Given the description of an element on the screen output the (x, y) to click on. 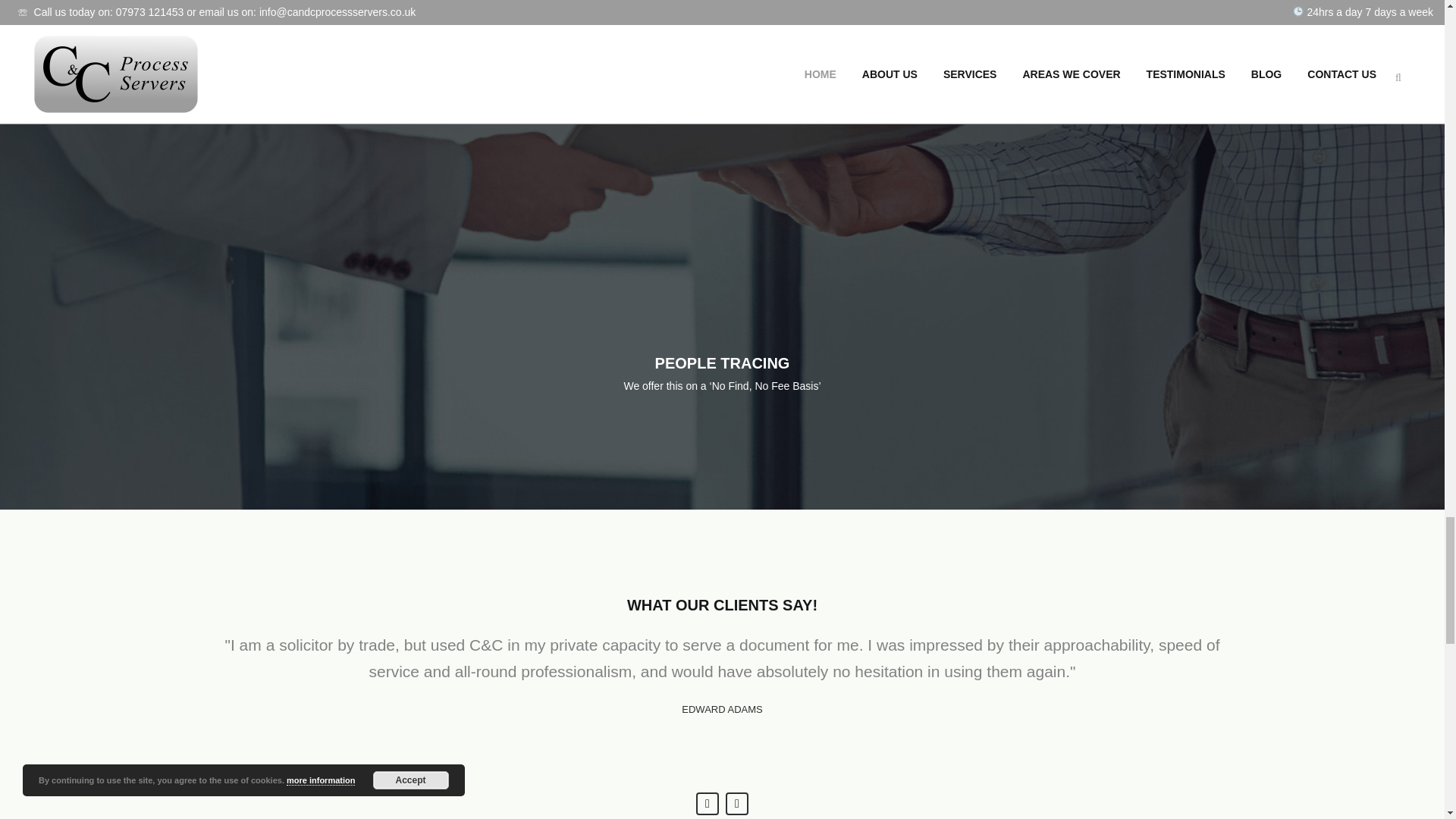
Previous (707, 803)
Next (736, 803)
